Given the description of an element on the screen output the (x, y) to click on. 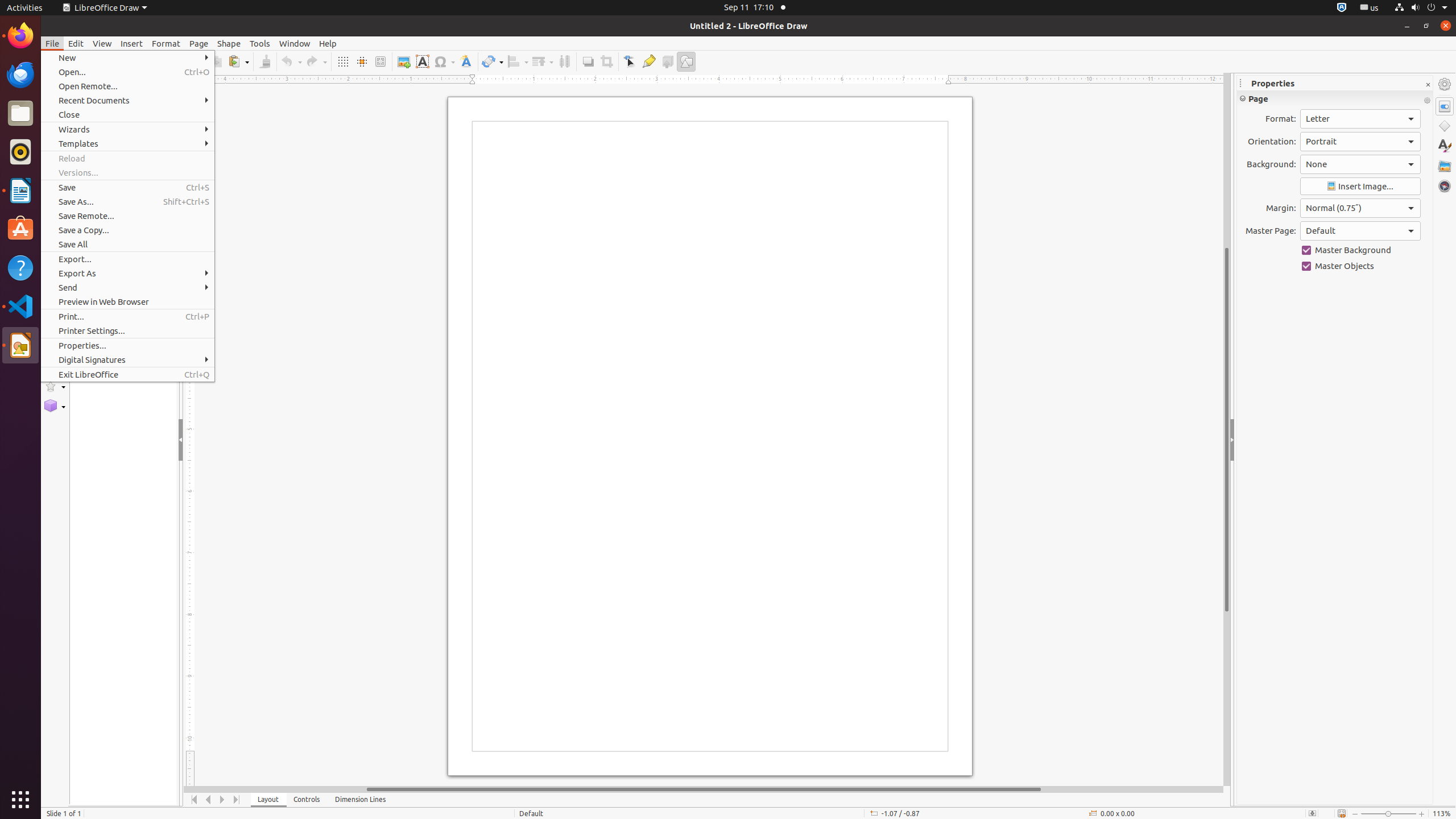
Export As Element type: menu (127, 273)
Vertical scroll bar Element type: scroll-bar (1226, 429)
Fill Color Element type: push-button (146, 81)
Move To End Element type: push-button (236, 799)
More Options Element type: push-button (1426, 100)
